Given the description of an element on the screen output the (x, y) to click on. 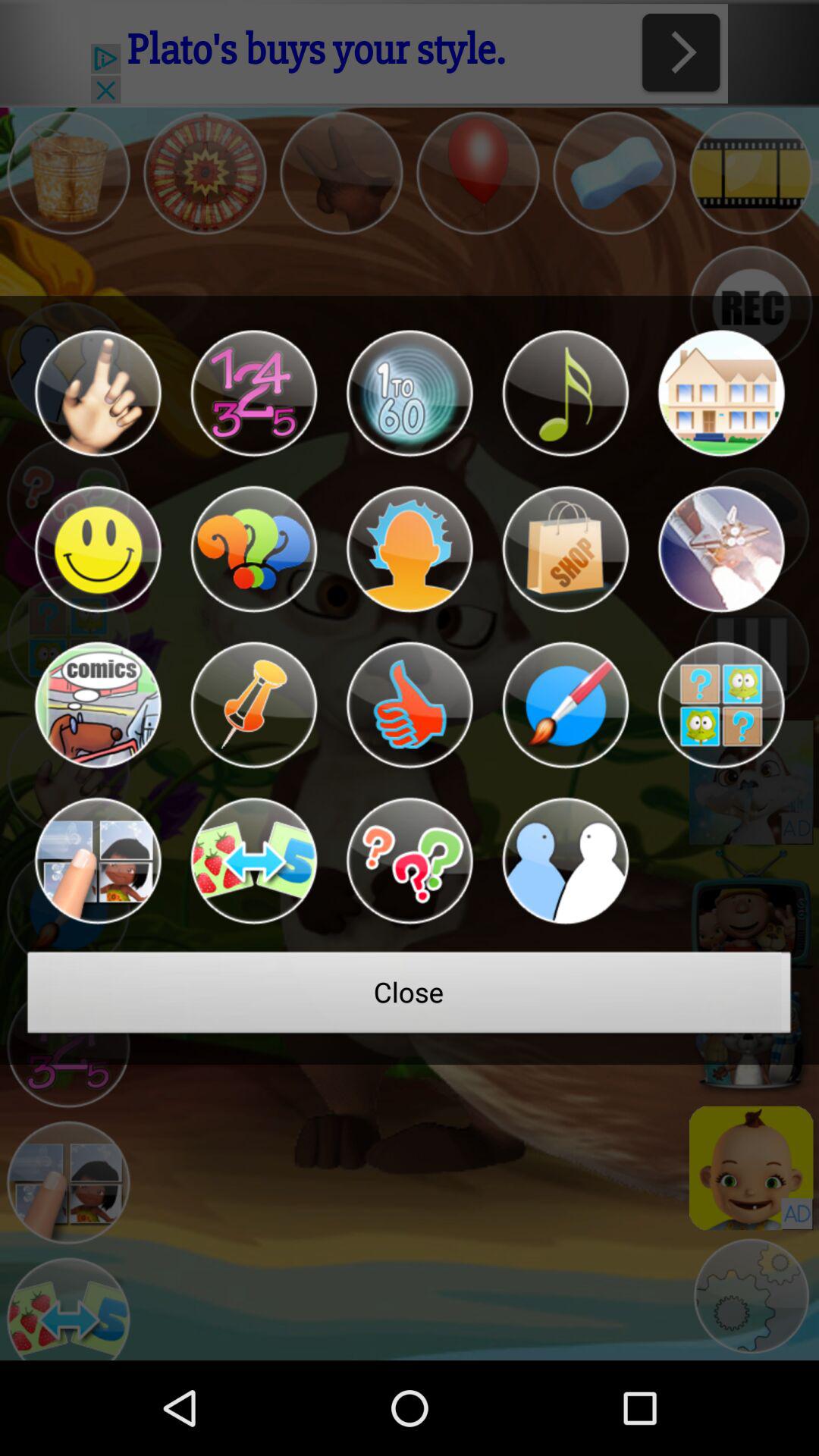
change color (565, 705)
